Given the description of an element on the screen output the (x, y) to click on. 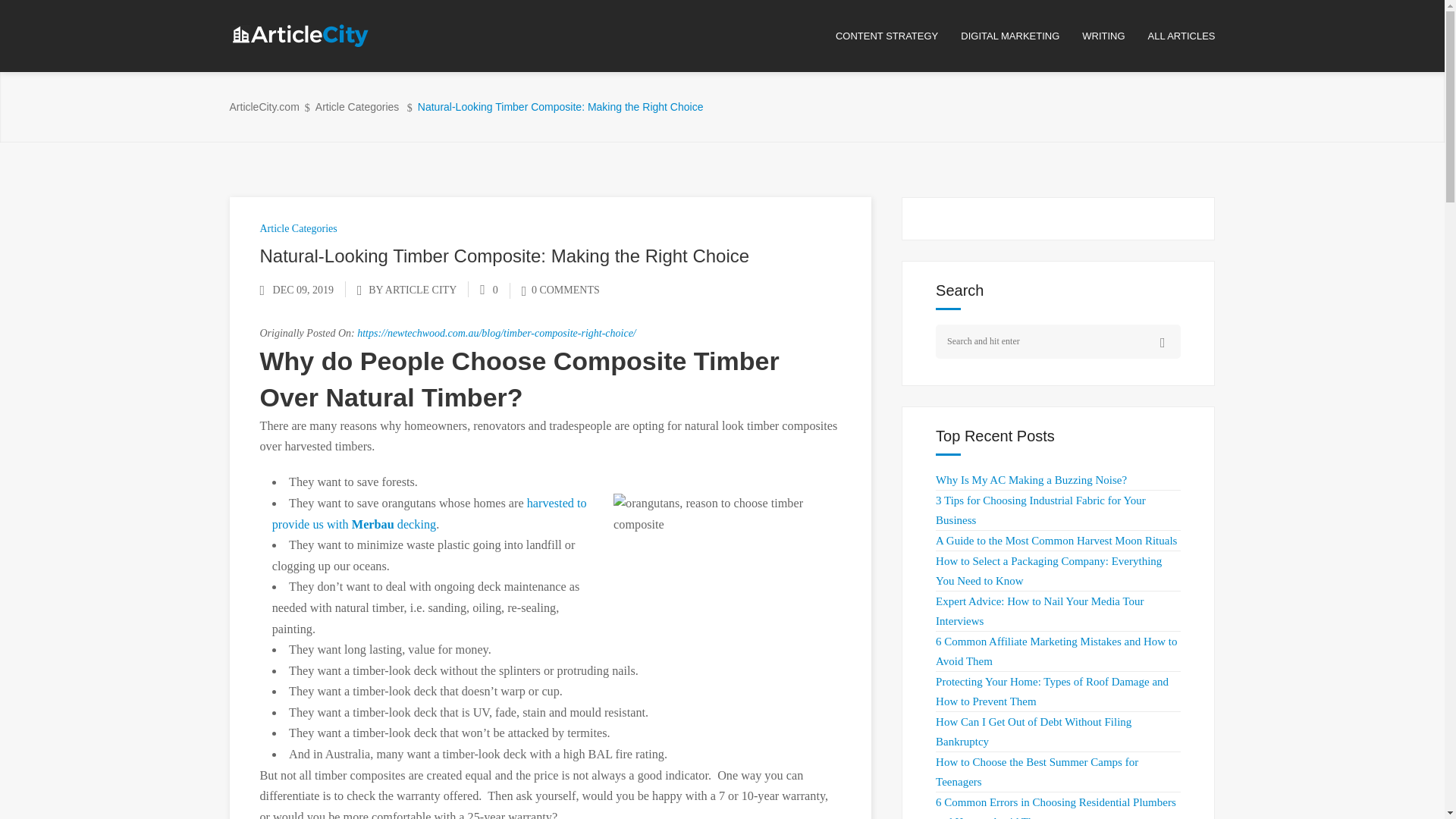
6 Common Affiliate Marketing Mistakes and How to Avoid Them (1056, 651)
WRITING (1114, 36)
Like this (488, 289)
DIGITAL MARKETING (1020, 36)
Article Categories (297, 228)
ALL ARTICLES (1181, 36)
CONTENT STRATEGY (897, 36)
Expert Advice: How to Nail Your Media Tour Interviews (1039, 611)
harvested to provide us with Merbau decking (429, 513)
Article Categories (356, 107)
BY ARTICLE CITY (412, 289)
0 (488, 289)
